Given the description of an element on the screen output the (x, y) to click on. 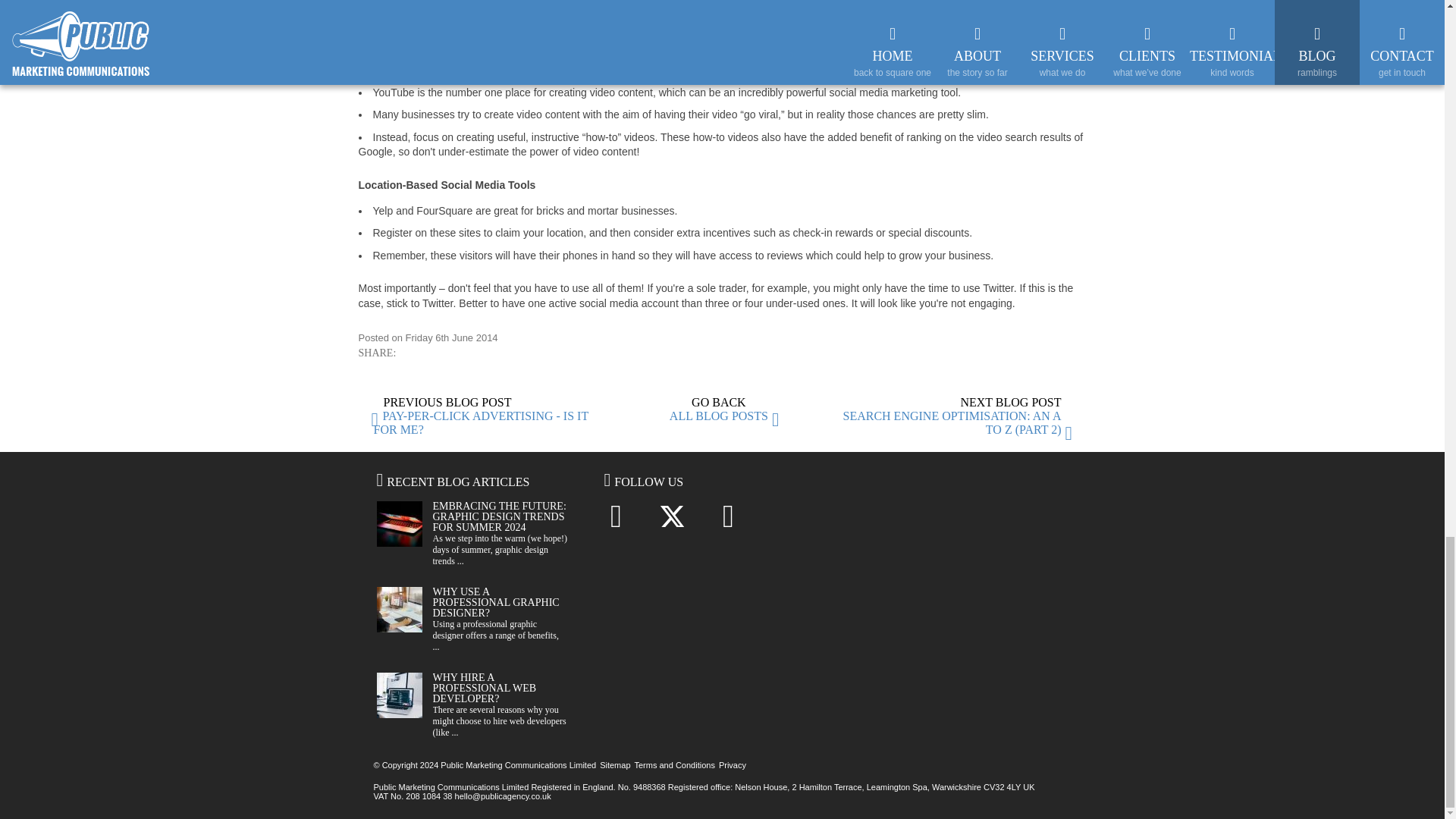
ALL BLOG POSTS (718, 415)
PAY-PER-CLICK ADVERTISING - IS IT FOR ME? (480, 422)
Terms and Conditions (673, 764)
Sitemap (614, 764)
Privacy (732, 764)
